Given the description of an element on the screen output the (x, y) to click on. 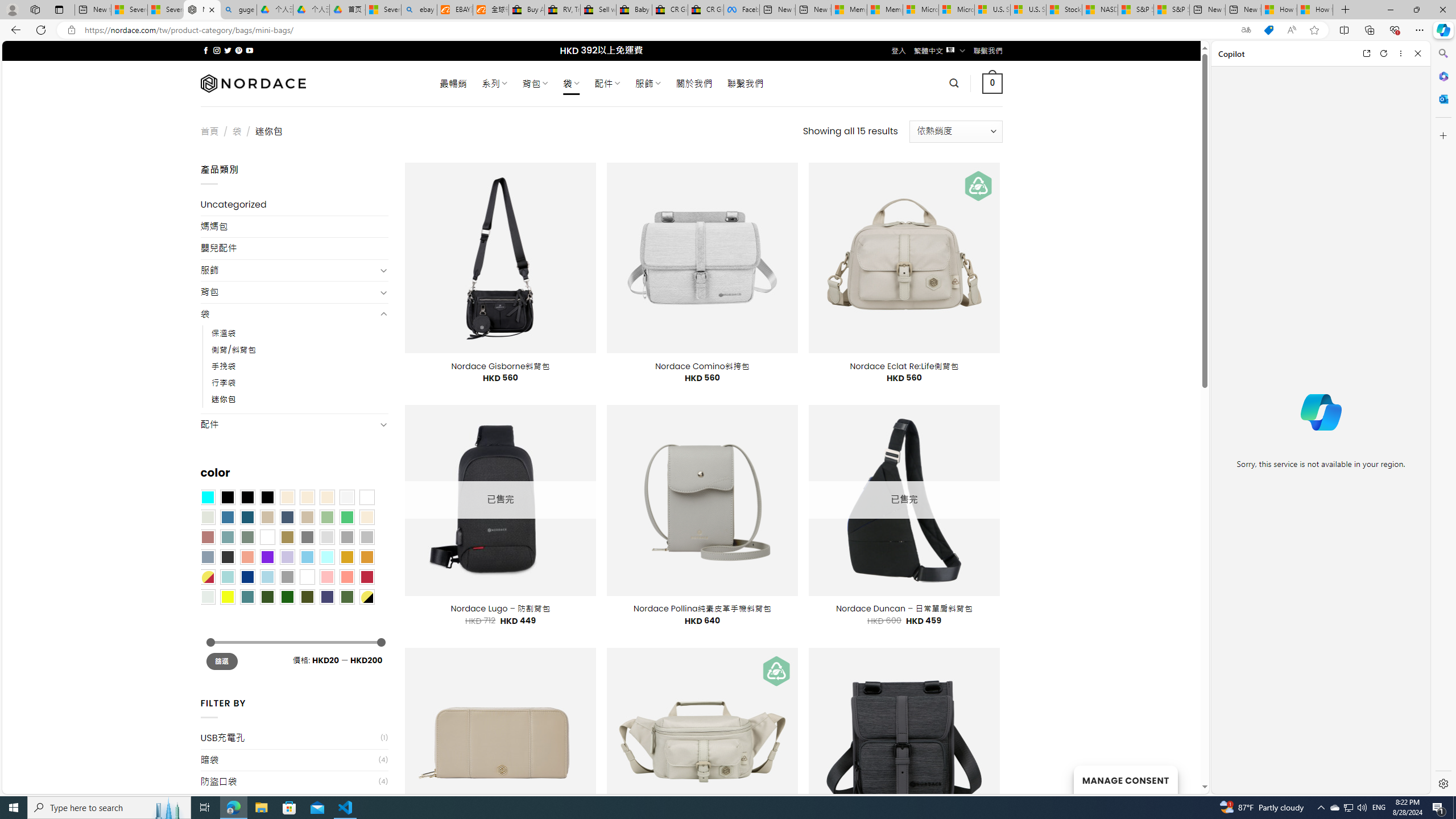
Follow on Facebook (205, 50)
